Given the description of an element on the screen output the (x, y) to click on. 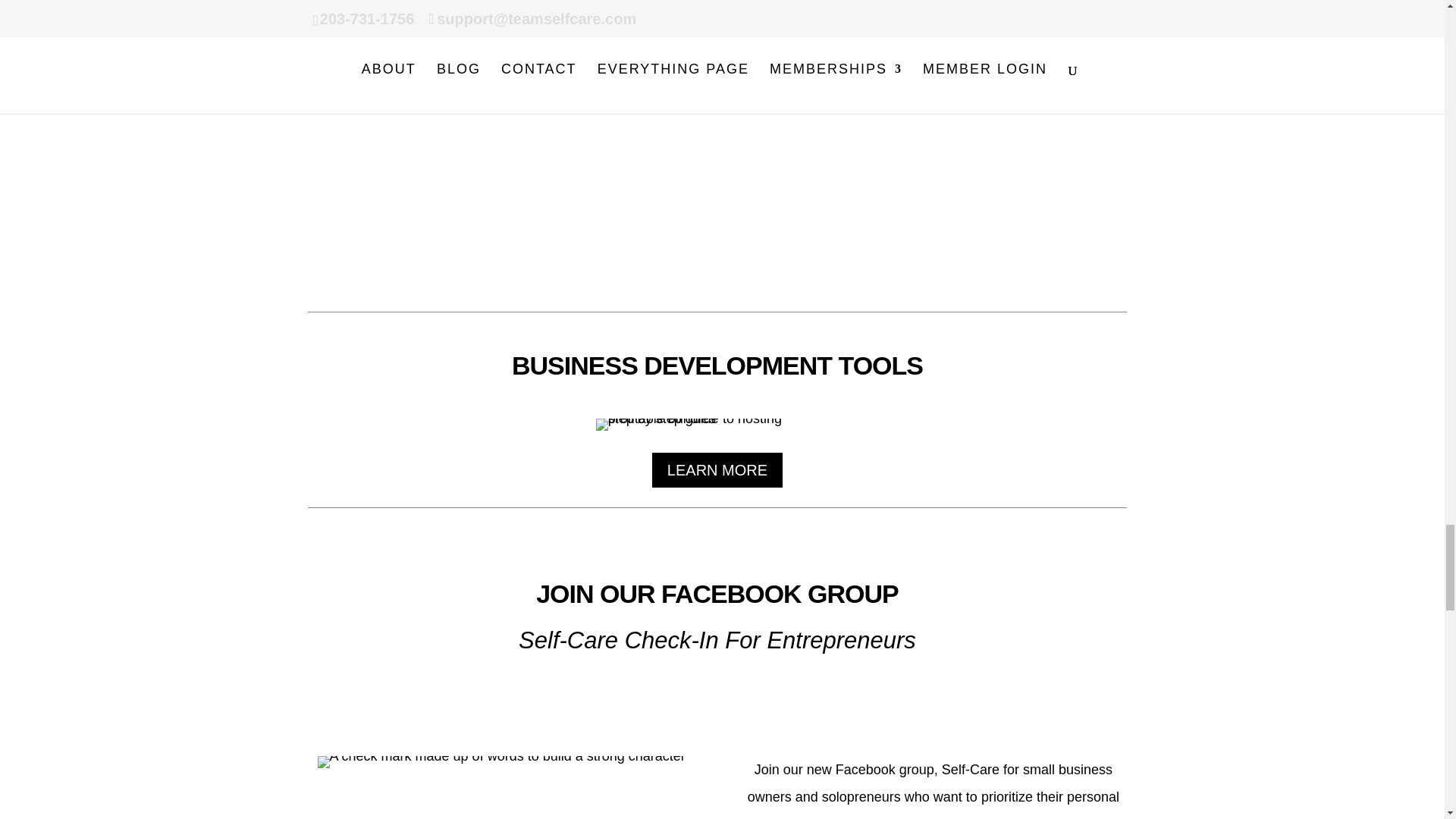
LEARN MORE (717, 469)
self care check in (501, 761)
BundleUP-Host-Planner-5aa (716, 424)
